Given the description of an element on the screen output the (x, y) to click on. 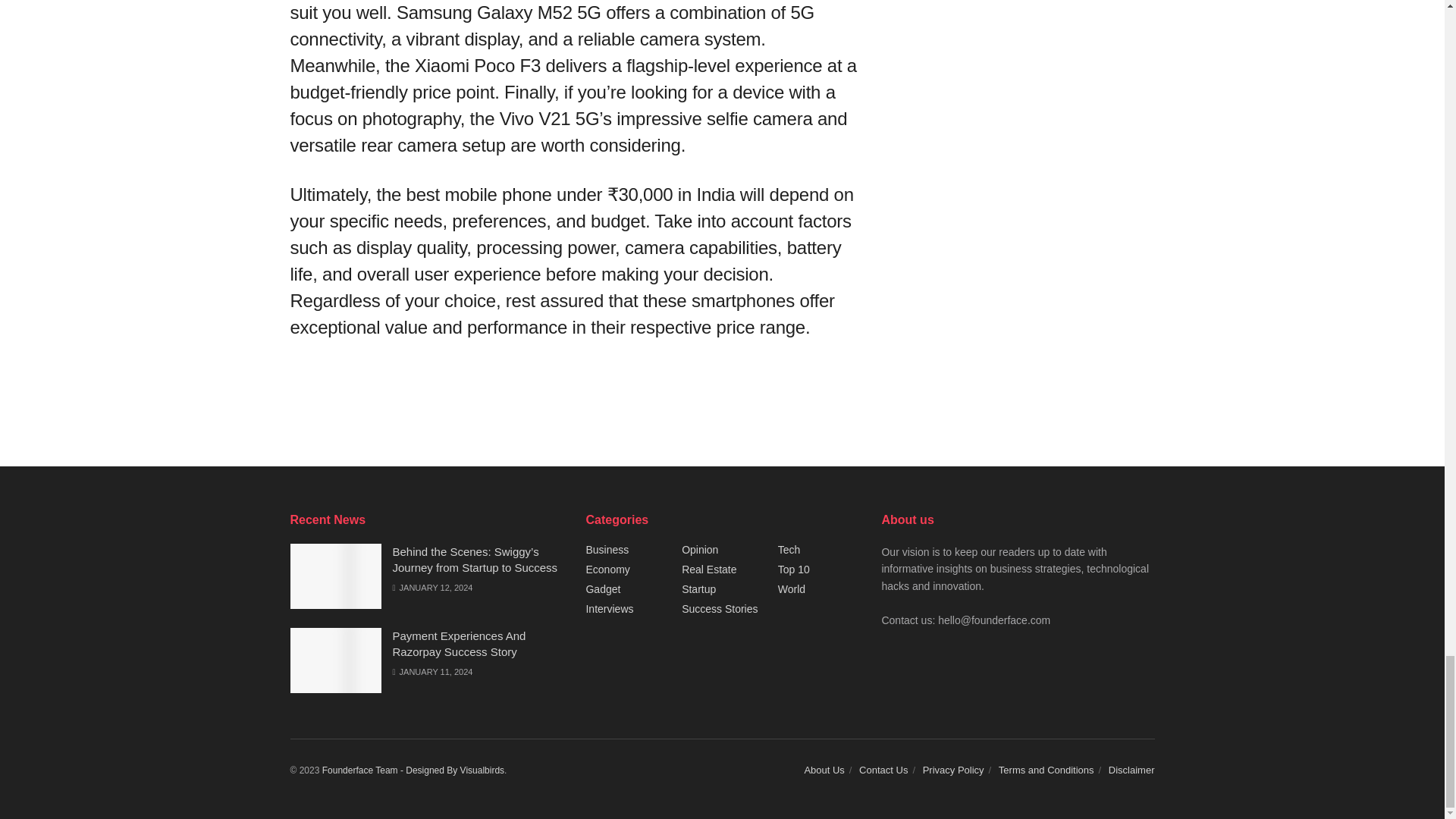
Founderface (363, 769)
Visualbirds (454, 769)
